Given the description of an element on the screen output the (x, y) to click on. 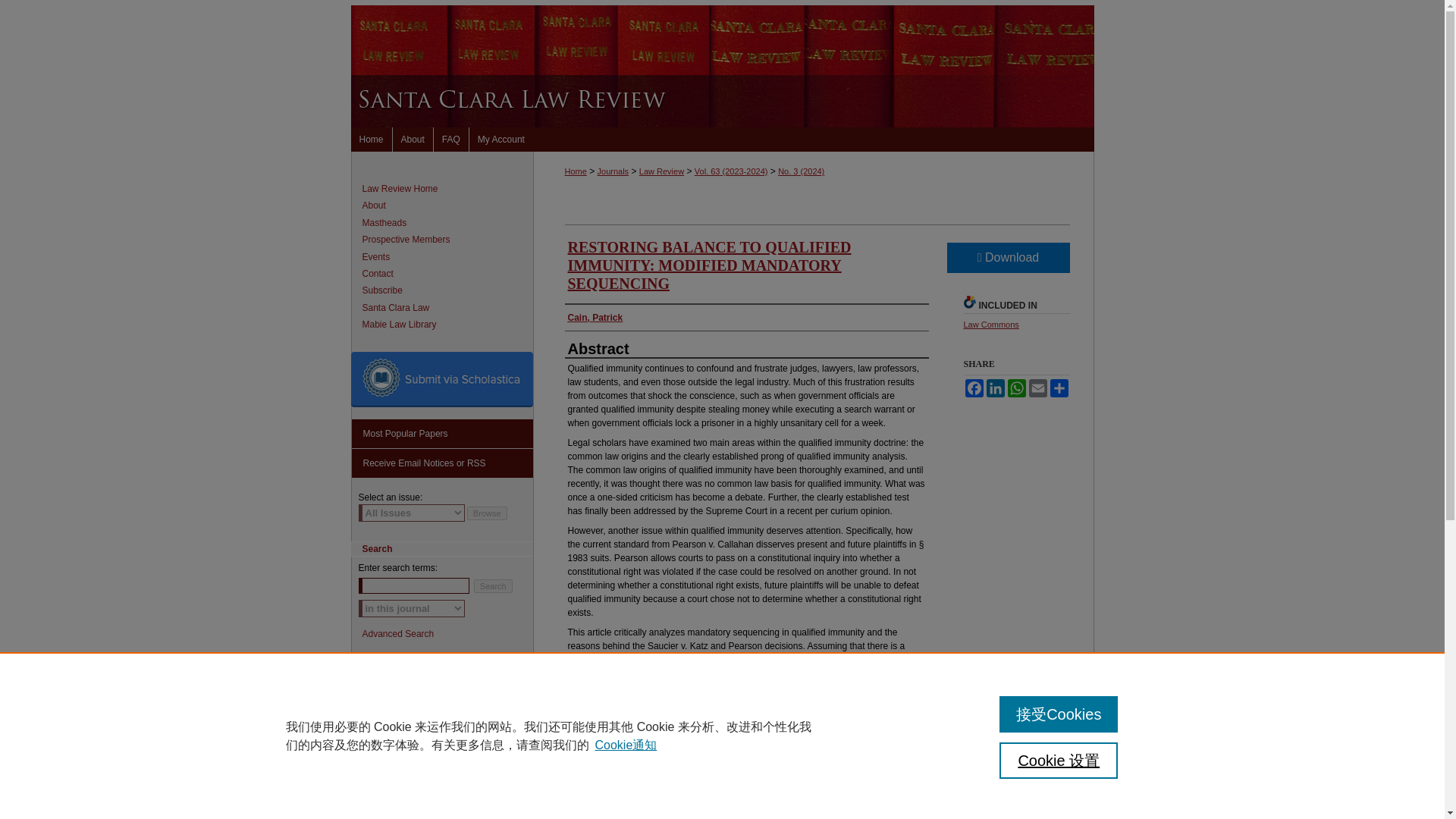
FAQ (450, 139)
Journals (612, 171)
About (413, 139)
Email (1037, 388)
WhatsApp (1016, 388)
Cain, Patrick (595, 317)
My Account (500, 139)
Search (493, 585)
LinkedIn (995, 388)
Law Review Home (447, 188)
Santa Clara Law Review (447, 188)
Law Review (661, 171)
Santa Clara Law (447, 307)
View the top downloaded papers (442, 433)
Mastheads (447, 222)
